Given the description of an element on the screen output the (x, y) to click on. 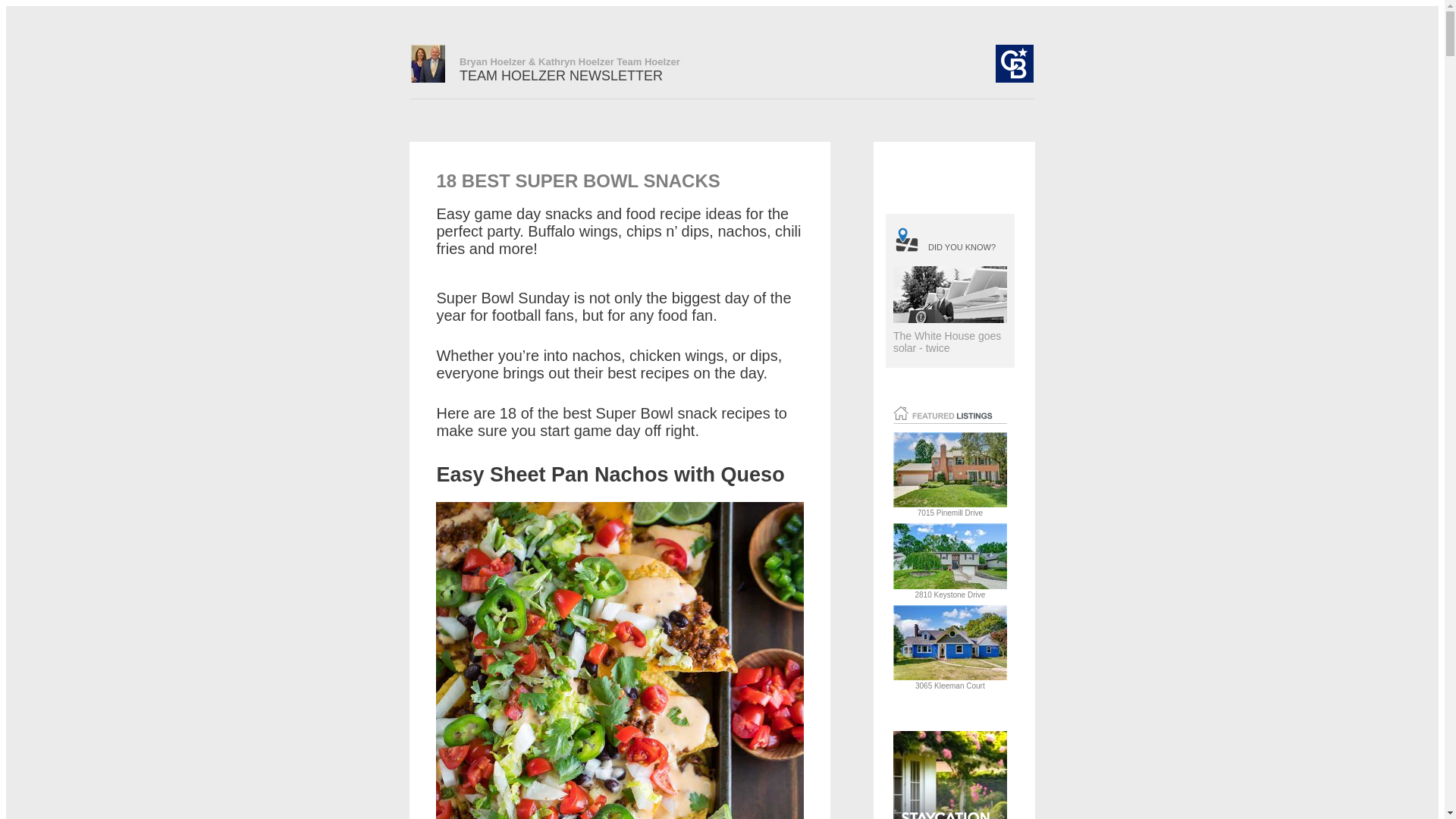
The White House goes solar - twice (947, 341)
